Given the description of an element on the screen output the (x, y) to click on. 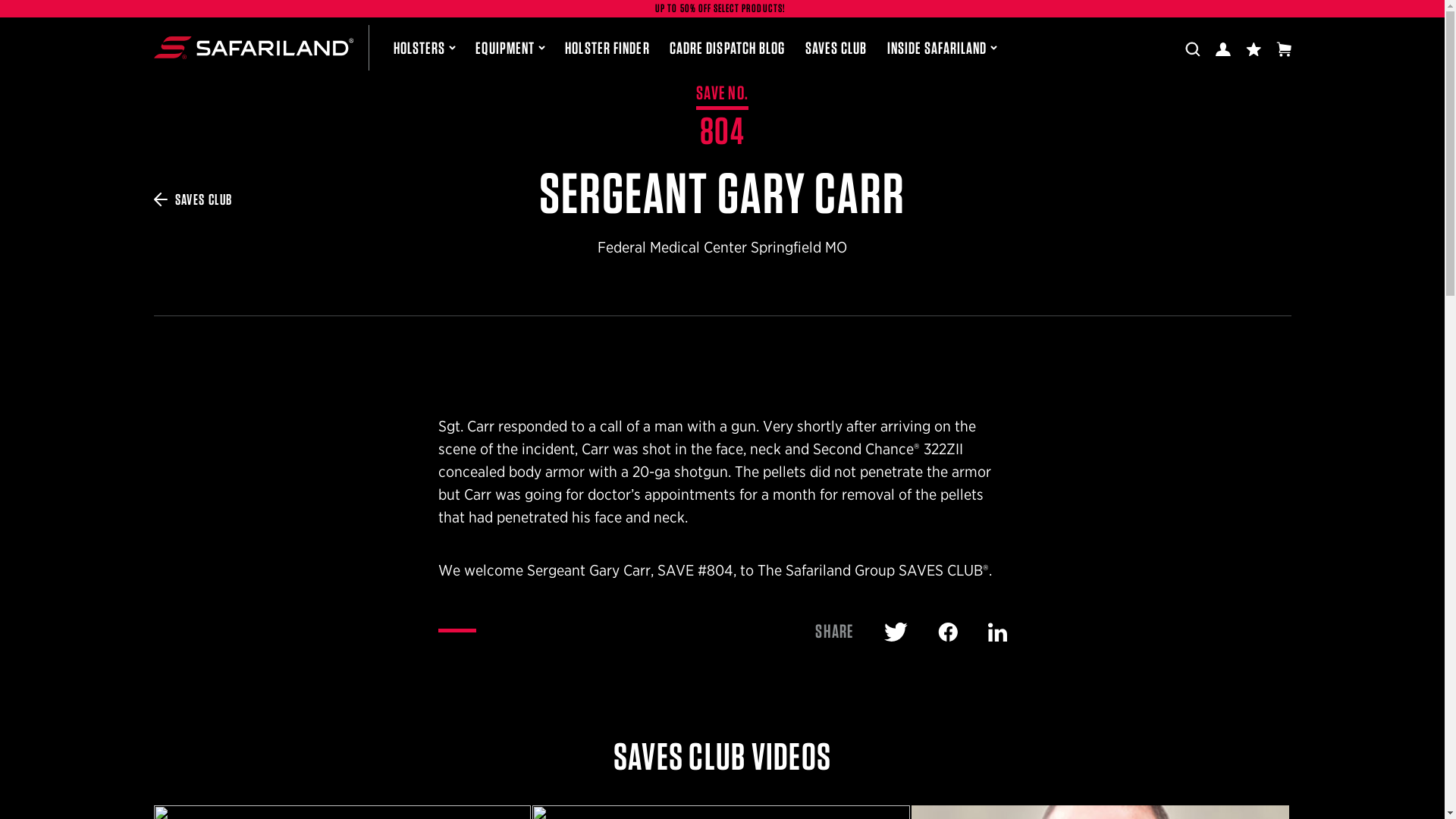
Safariland (252, 47)
Last Chance (722, 8)
HOLSTERS (424, 47)
